Given the description of an element on the screen output the (x, y) to click on. 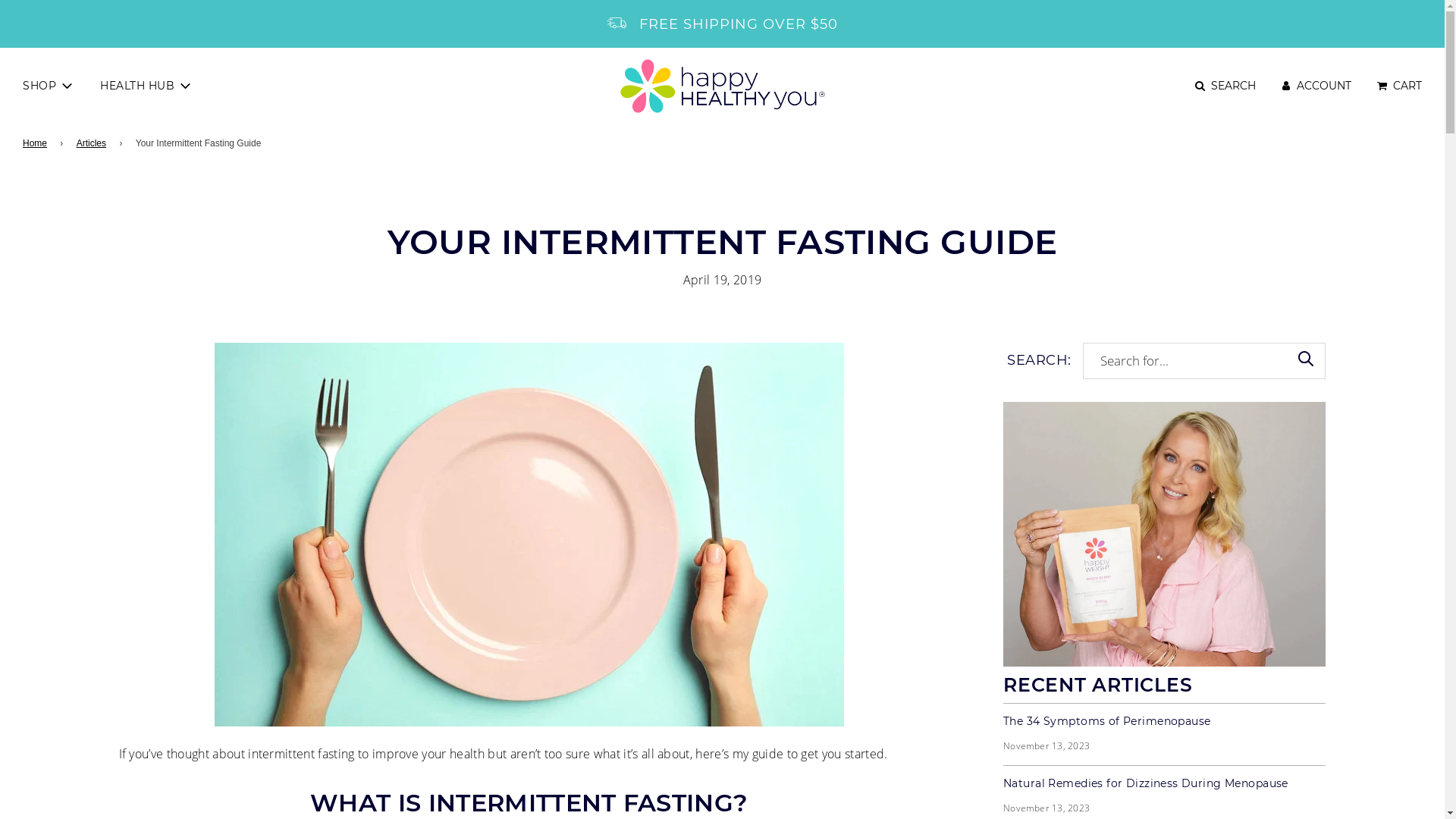
CART Element type: text (1397, 85)
Natural Remedies for Dizziness During Menopause Element type: text (1164, 783)
SEARCH Element type: text (1223, 85)
HEALTH HUB Element type: text (146, 86)
ACCOUNT Element type: text (1315, 85)
The 34 Symptoms of Perimenopause Element type: text (1164, 721)
SHOP Element type: text (48, 86)
Articles Element type: text (93, 143)
Home Element type: text (37, 143)
